Given the description of an element on the screen output the (x, y) to click on. 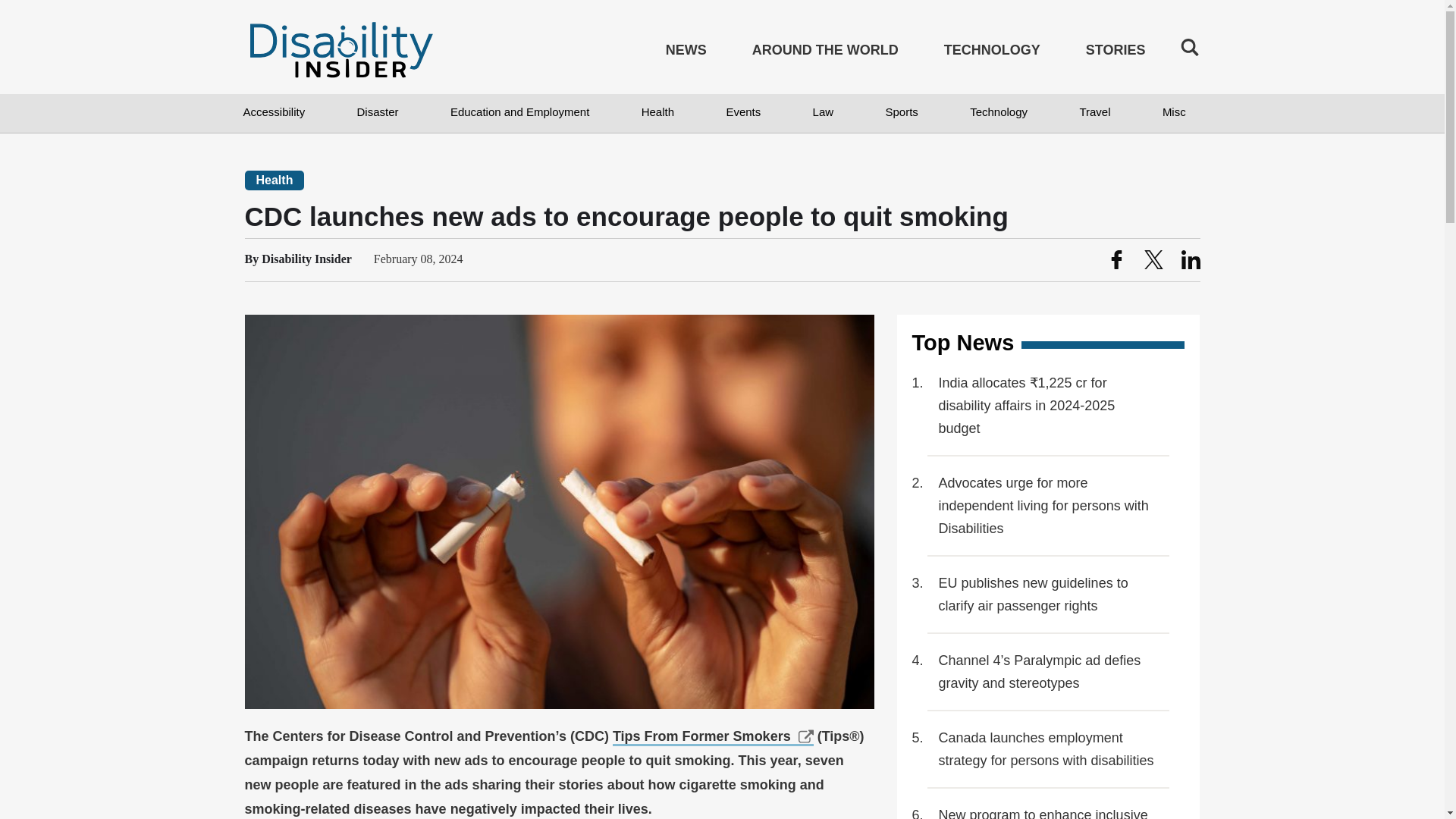
New program to enhance inclusive tourism offering (1048, 811)
NEWS (685, 53)
TECHNOLOGY (992, 53)
Education and Employment (519, 113)
AROUND THE WORLD (825, 53)
Accessibility (273, 113)
STORIES (1115, 53)
Disaster (377, 113)
Technology (998, 113)
EU publishes new guidelines to clarify air passenger rights (1048, 594)
Tips From Former Smokers (712, 737)
Events (742, 113)
